Given the description of an element on the screen output the (x, y) to click on. 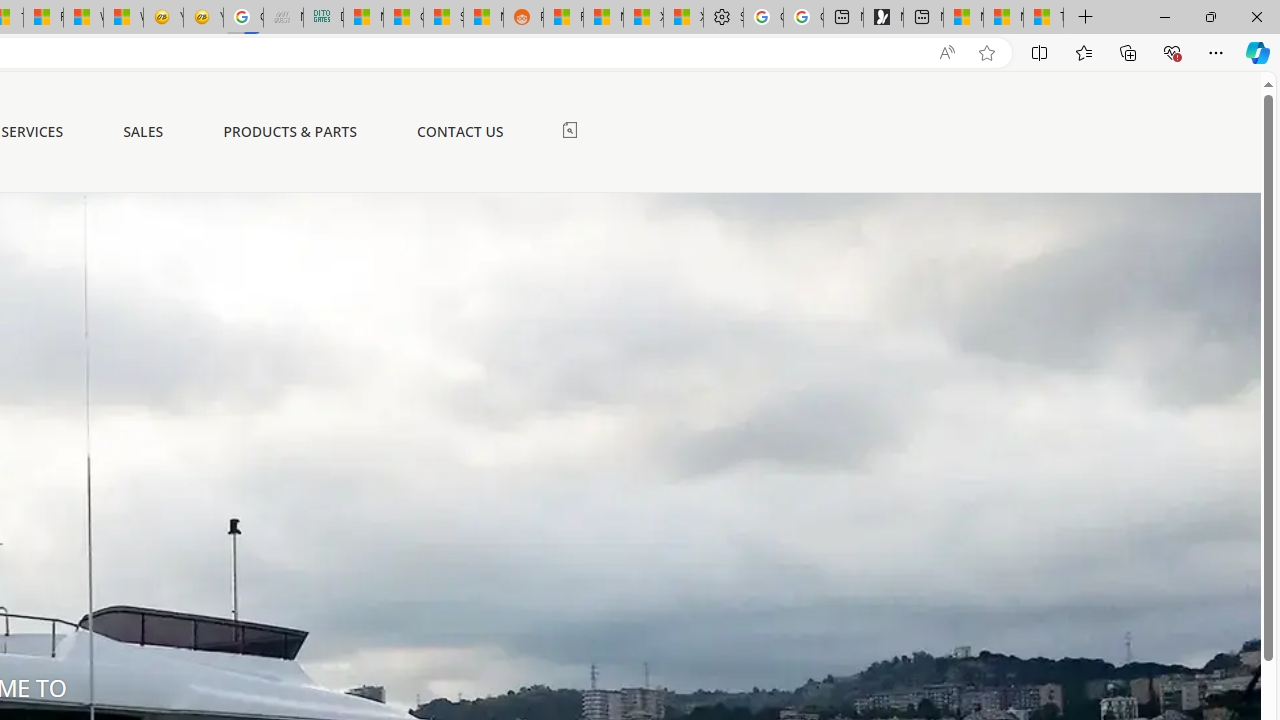
PRODUCTS & PARTS (289, 132)
Microsoft Start Gaming (883, 17)
MSN (483, 17)
